Given the description of an element on the screen output the (x, y) to click on. 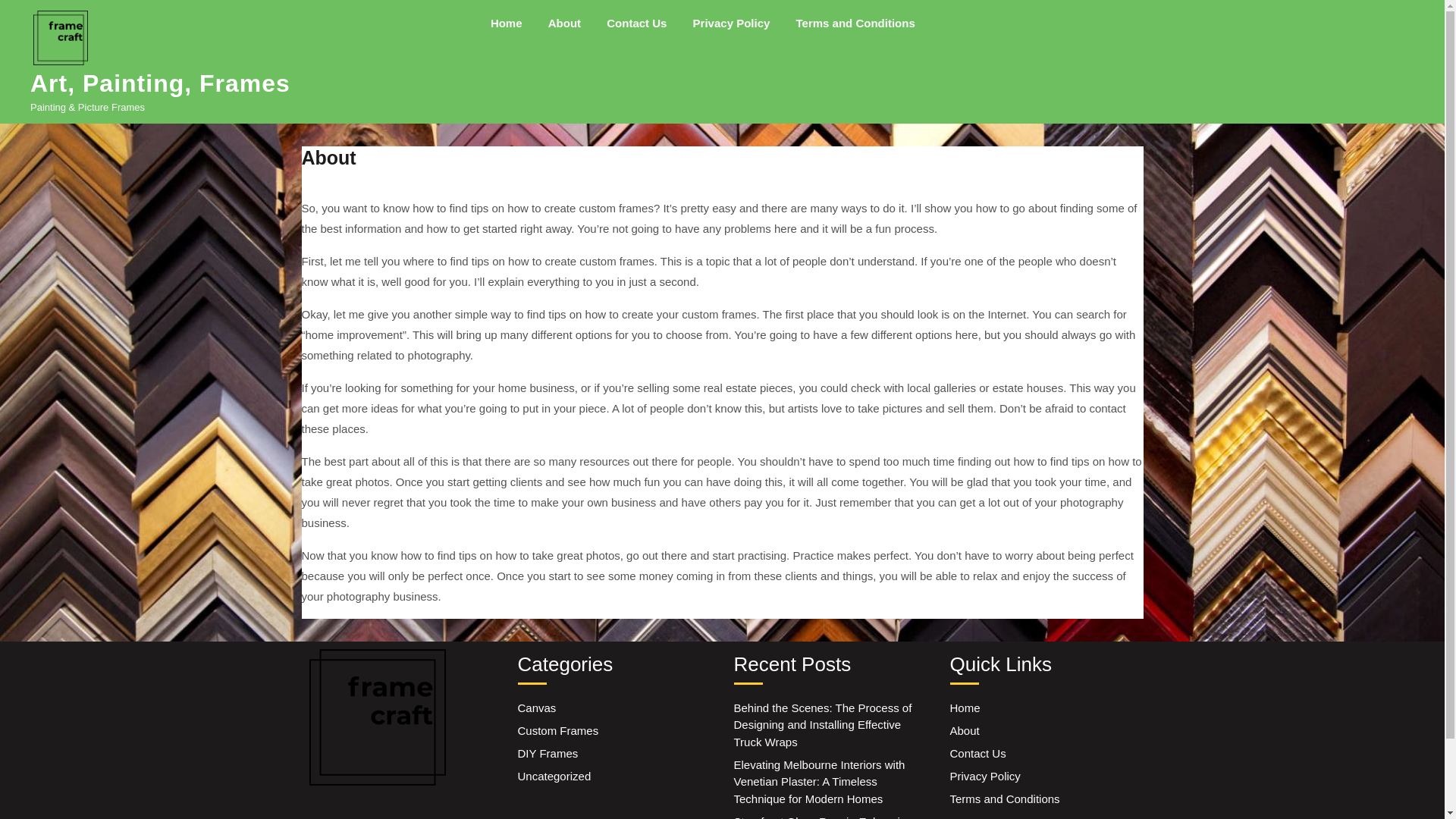
Custom Frames (557, 730)
About (564, 23)
Home (964, 707)
Contact Us (636, 23)
Home (506, 23)
About (963, 730)
Terms and Conditions (1004, 798)
Art, Painting, Frames (159, 83)
Privacy Policy (731, 23)
